Given the description of an element on the screen output the (x, y) to click on. 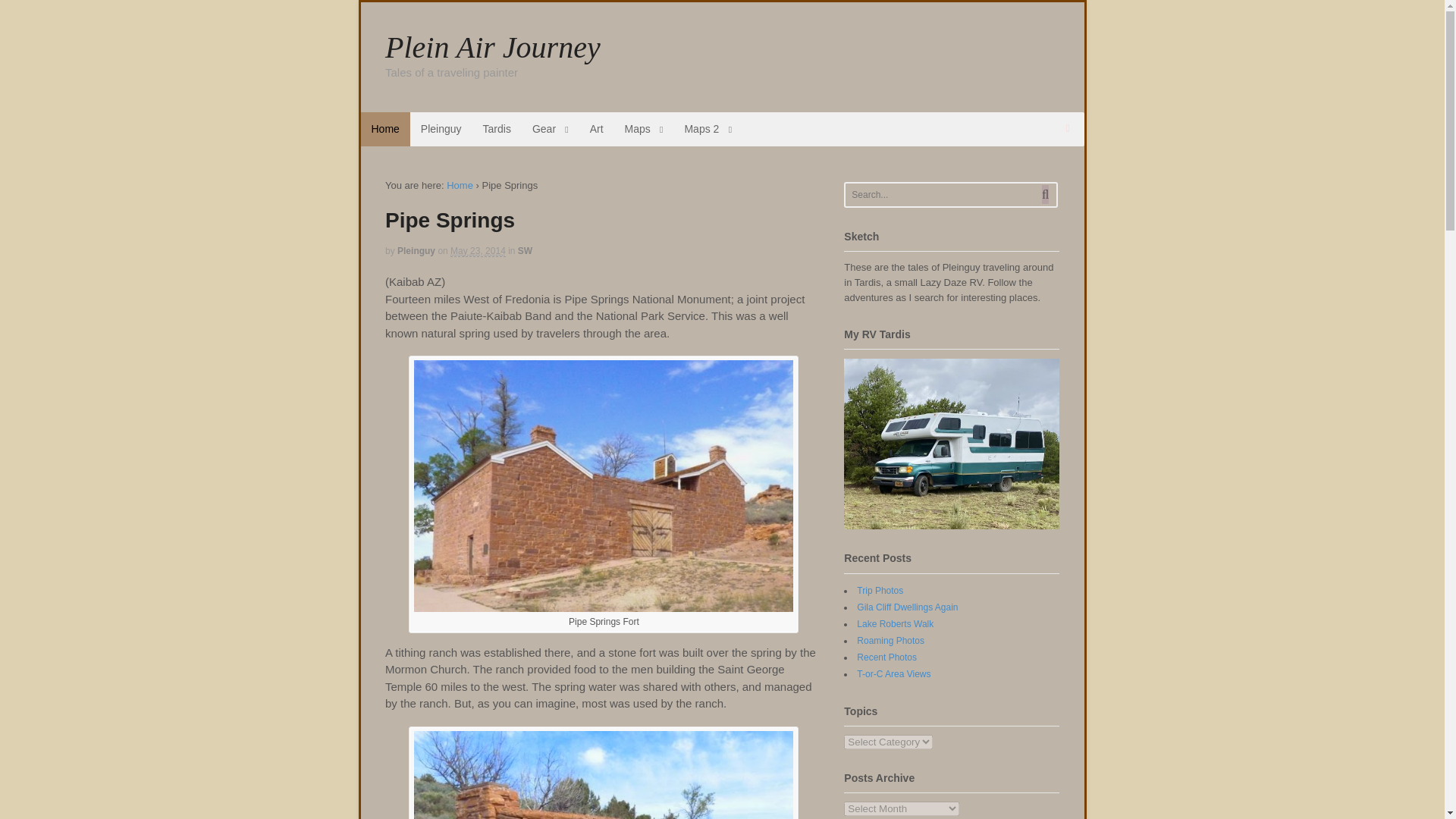
2014-05-23T02:00:00-0600 (477, 251)
Gear (550, 129)
Pipe Springs Fort (603, 605)
Plein Air Journey (459, 184)
Posts by Pleinguy (416, 250)
Home (385, 129)
Maps 2 (707, 129)
Art (596, 129)
Maps (644, 129)
Pleinguy (440, 129)
Plein Air Journey (492, 47)
Tardis (496, 129)
Search... (940, 194)
View all items in SW (525, 250)
